Given the description of an element on the screen output the (x, y) to click on. 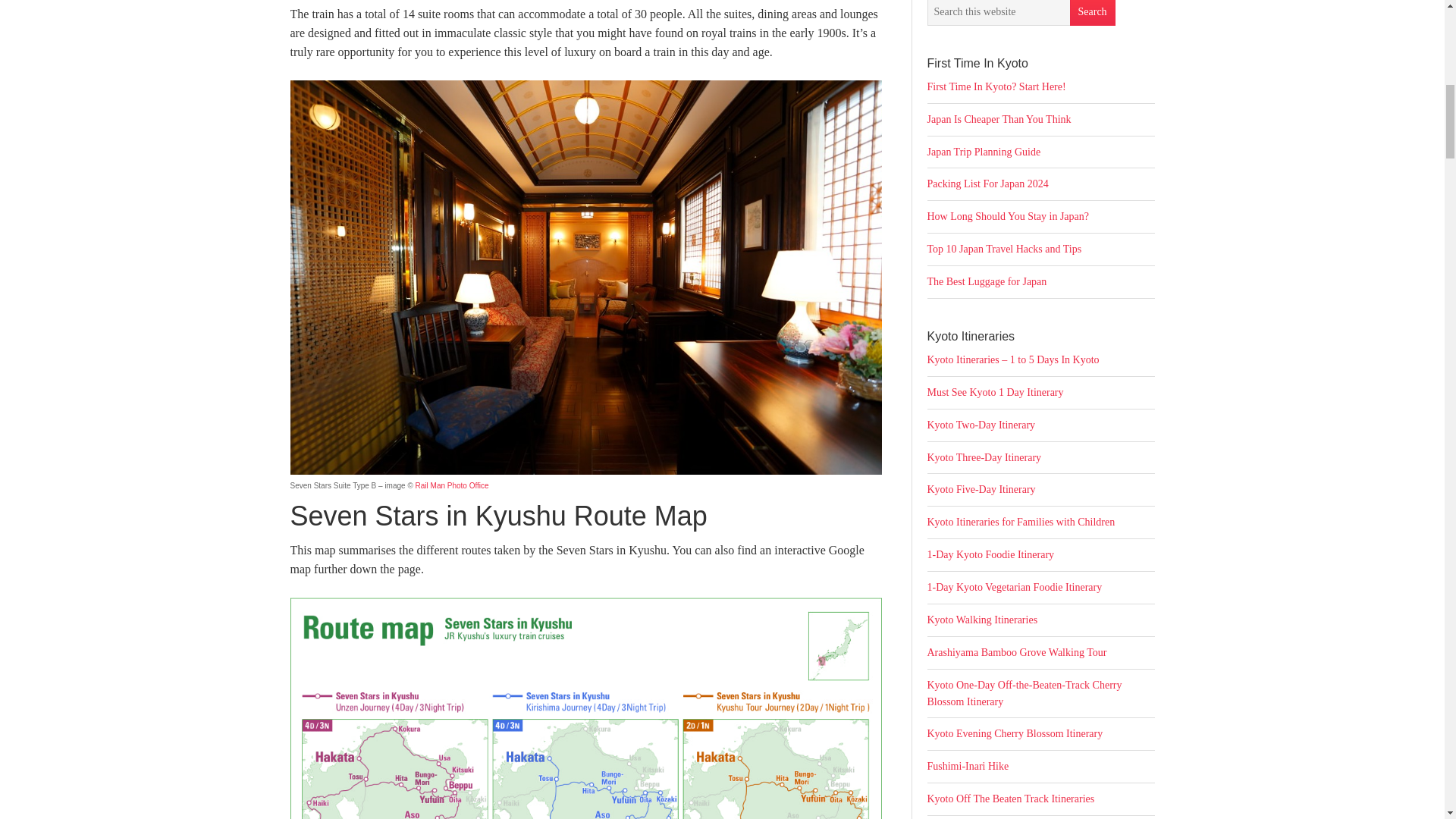
Kyoto Itineraries (1012, 359)
Seven Stars route map (584, 708)
Rail Man Photo Office (451, 485)
Search (1091, 12)
Search (1091, 12)
